Given the description of an element on the screen output the (x, y) to click on. 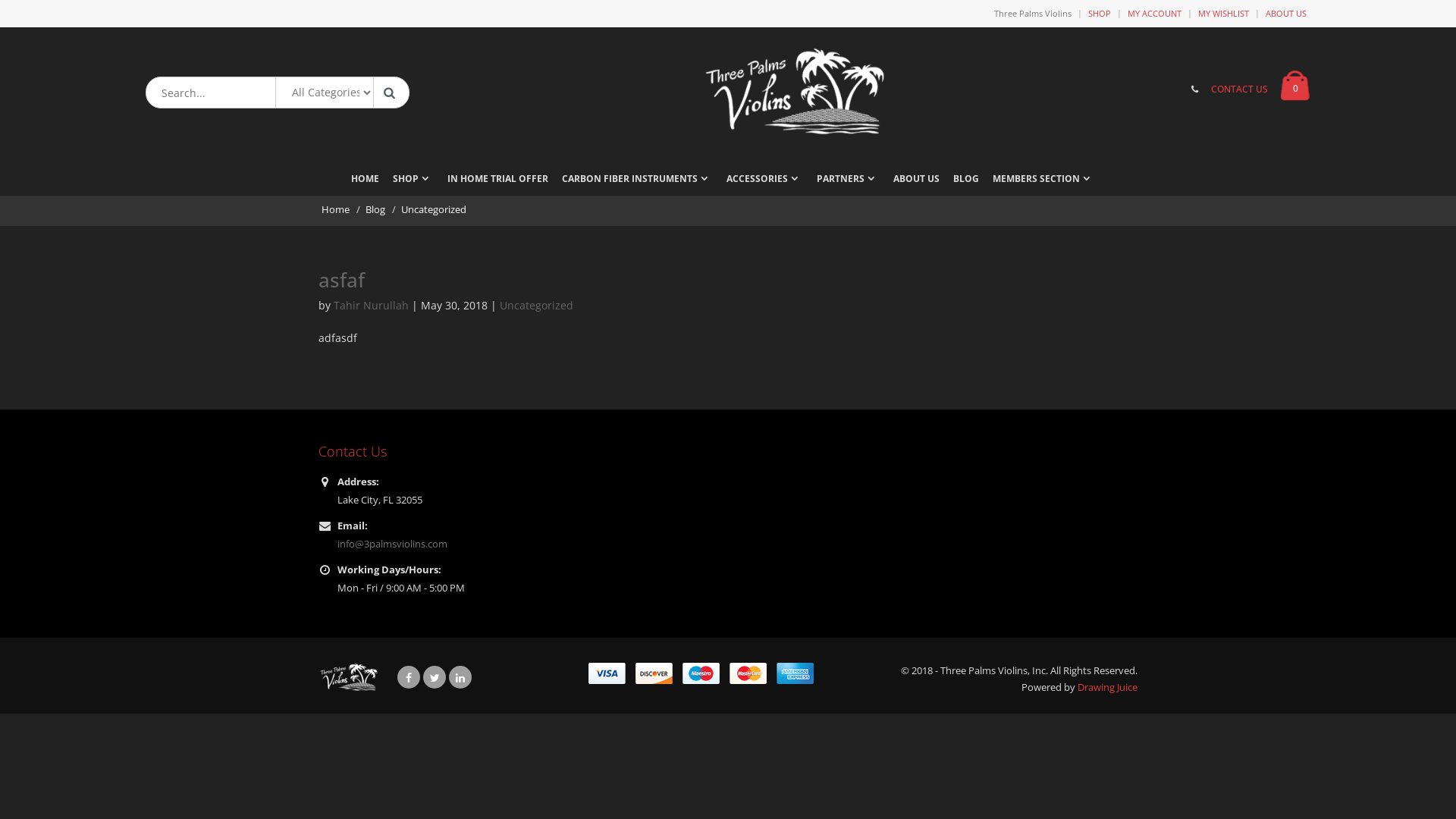
SHOP Element type: text (1099, 12)
ABOUT US Element type: text (1285, 12)
PARTNERS Element type: text (846, 183)
MY ACCOUNT Element type: text (1154, 12)
Three Palms Violins Element type: text (1032, 12)
MY WISHLIST Element type: text (1223, 12)
HOME Element type: text (364, 183)
Blog Element type: text (376, 209)
MEMBERS SECTION Element type: text (1042, 183)
CARBON FIBER INSTRUMENTS Element type: text (636, 183)
ABOUT US Element type: text (916, 183)
SHOP Element type: text (412, 183)
Home Element type: text (336, 209)
ACCESSORIES Element type: text (764, 183)
Drawing Juice Element type: text (1107, 686)
info@3palmsviolins.com Element type: text (392, 543)
CONTACT US Element type: text (1239, 88)
Uncategorized Element type: text (536, 305)
Search Element type: hover (388, 92)
Tahir Nurullah Element type: text (370, 305)
BLOG Element type: text (965, 183)
0 Element type: text (1295, 85)
asfaf Element type: text (341, 279)
IN HOME TRIAL OFFER Element type: text (497, 183)
